Given the description of an element on the screen output the (x, y) to click on. 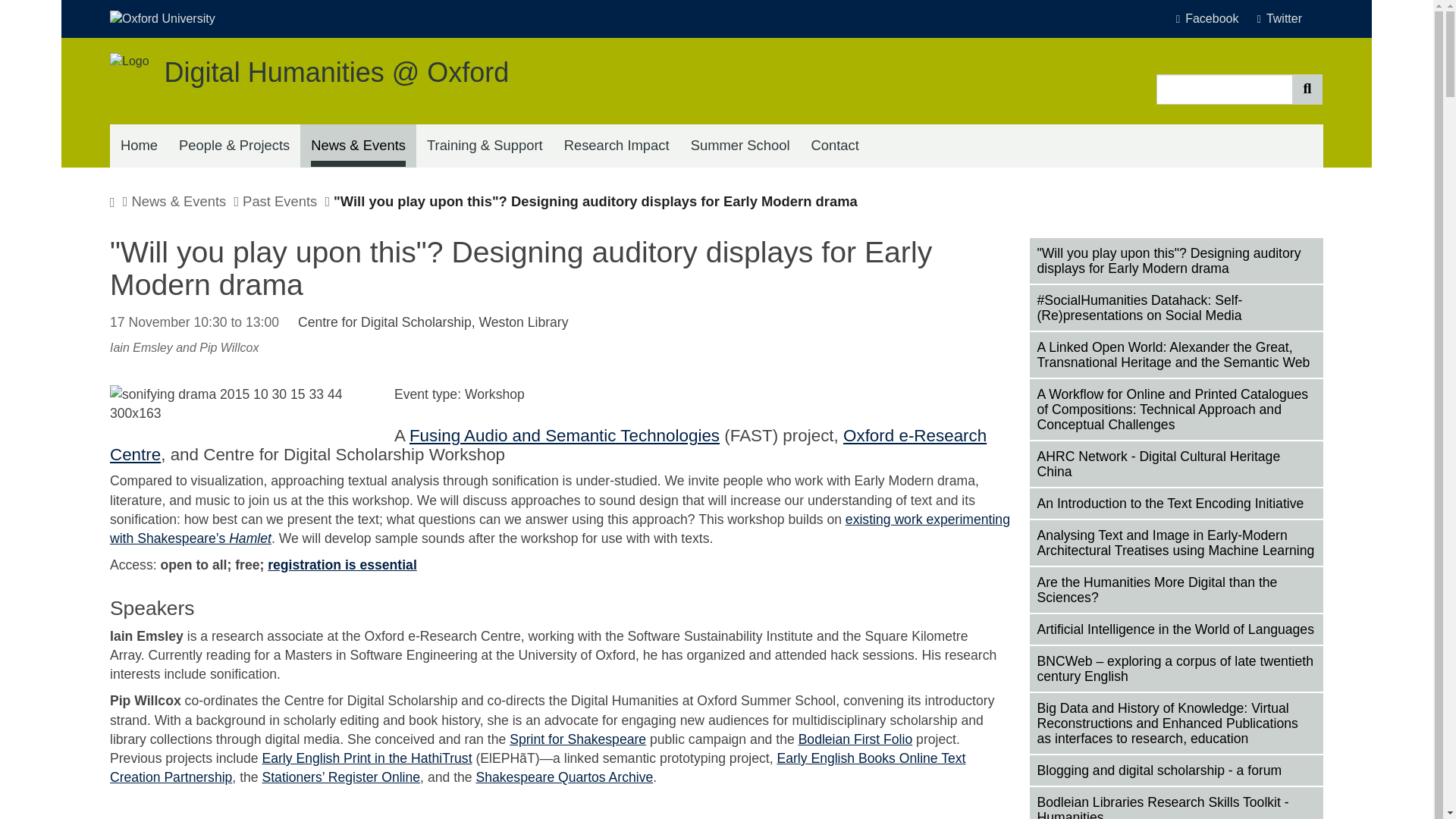
Fusing Audio and Semantic Technologies (564, 435)
Shakespeare Quartos Archive (564, 776)
Twitter (1278, 19)
Past Events (280, 201)
Early English Books Online Text Creation Partnership (537, 767)
Enter the terms you wish to search for (1224, 89)
Facebook (1213, 19)
Summer School (739, 145)
AHRC Network - Digital Cultural Heritage China (1176, 463)
Bodleian First Folio (854, 739)
Research Impact (616, 145)
Twitter (1278, 19)
